Given the description of an element on the screen output the (x, y) to click on. 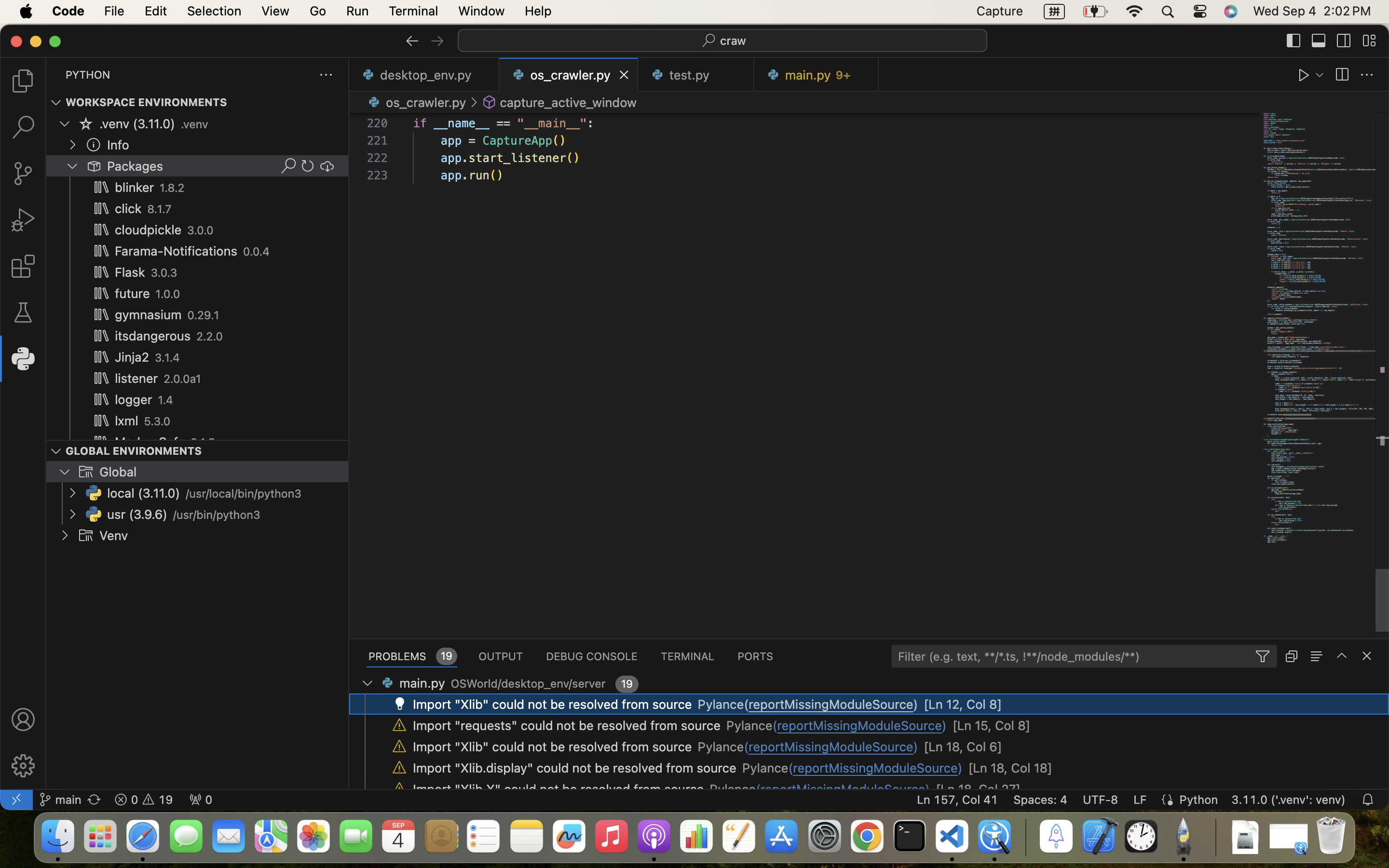
2.0.0a1 Element type: AXStaticText (182, 378)
0  Element type: AXRadioButton (23, 173)
OSWorld/desktop_env/server main.py  Element type: AXGroup (491, 682)
.venv (3.11.0) Element type: AXStaticText (137, 123)
 Element type: AXStaticText (100, 250)
